Given the description of an element on the screen output the (x, y) to click on. 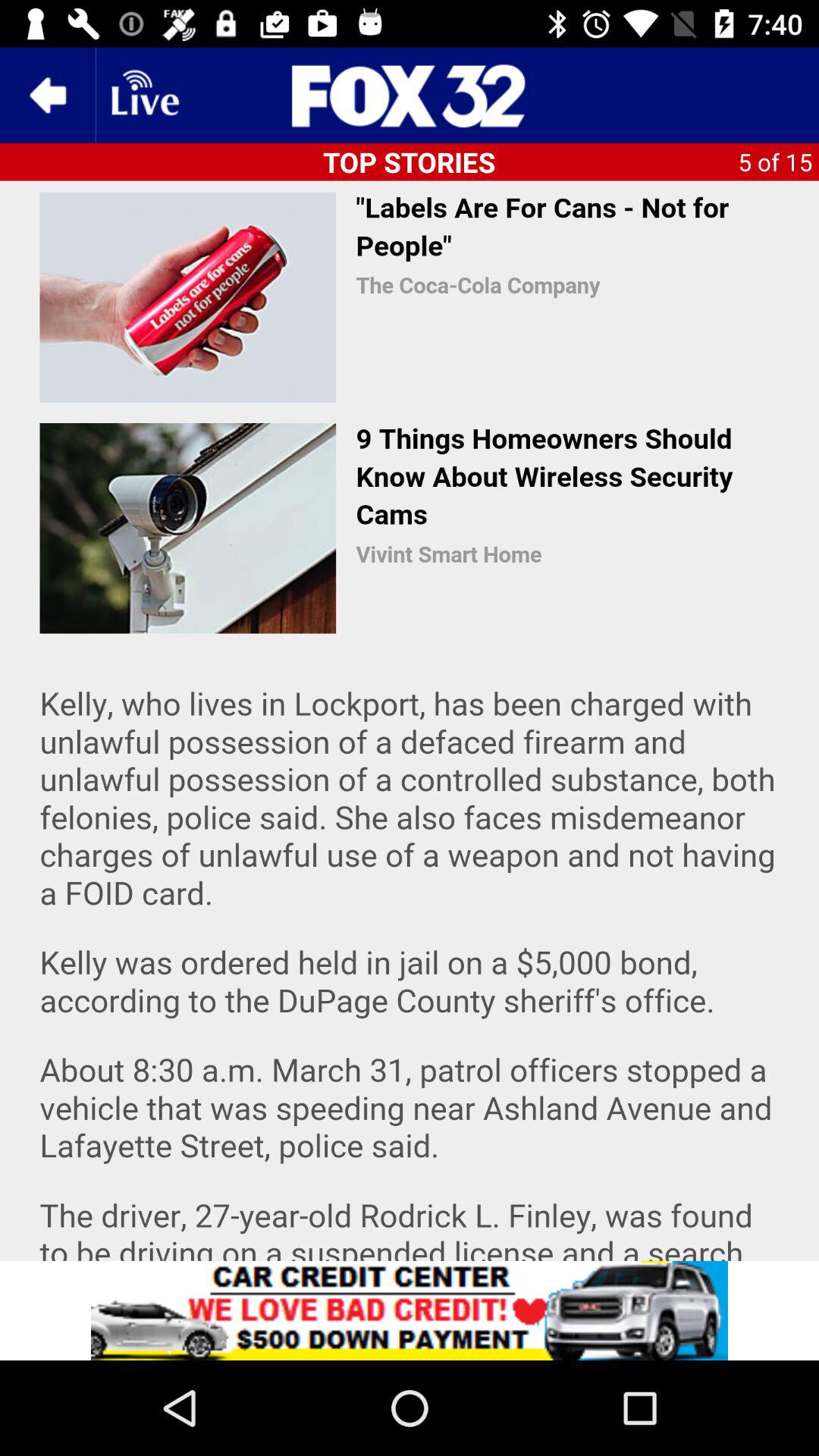
advertisement (409, 1310)
